Given the description of an element on the screen output the (x, y) to click on. 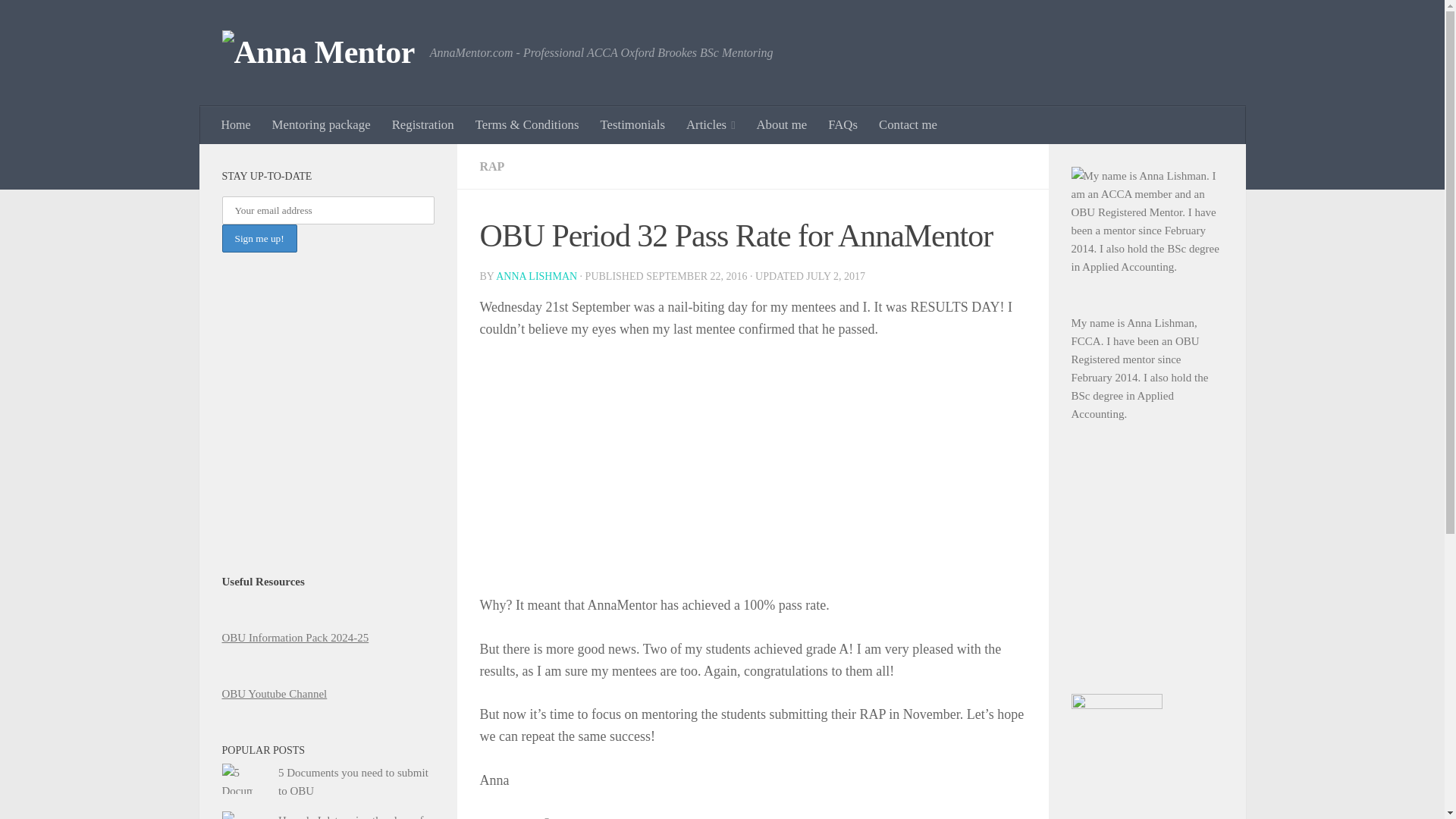
Posts by Anna Lishman (536, 276)
How do I determine the class of my OBU degree? (350, 816)
Mentoring package (321, 125)
FAQs (841, 125)
5 Documents you need to submit to OBU (353, 781)
About me (781, 125)
Contact me (907, 125)
Testimonials (632, 125)
Registration (422, 125)
RAP (491, 165)
